Given the description of an element on the screen output the (x, y) to click on. 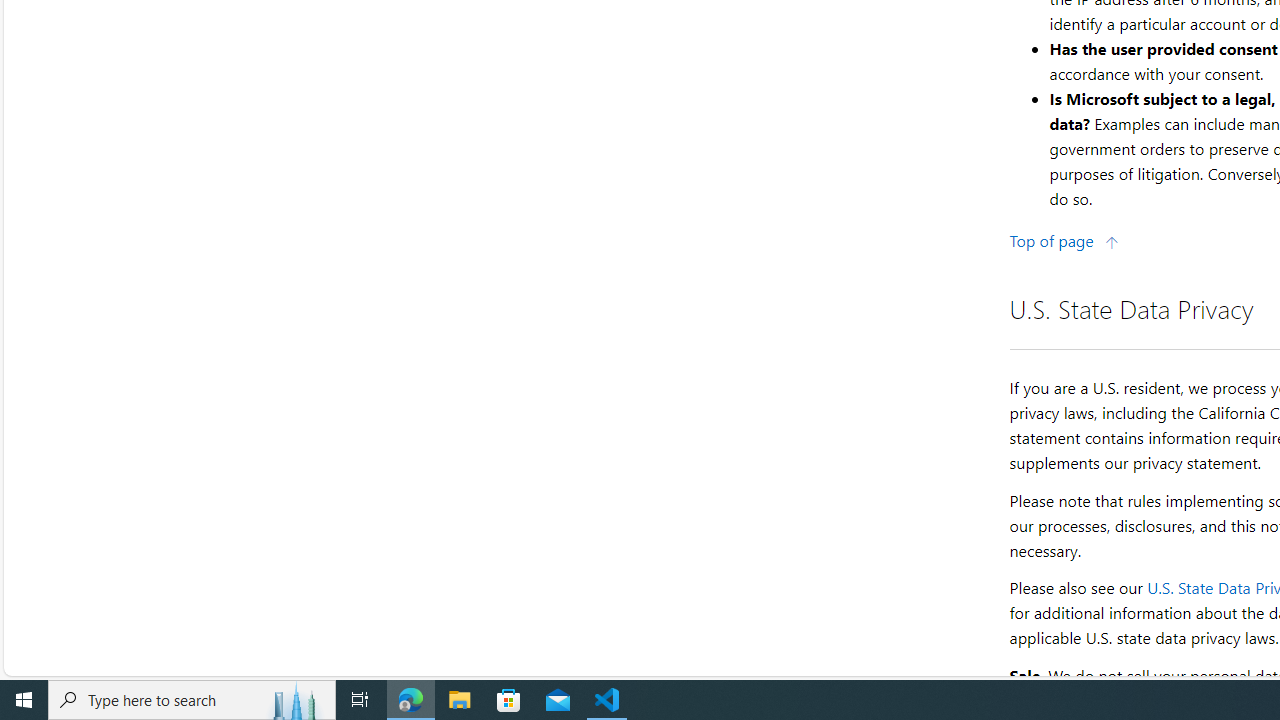
Top of page (1064, 240)
